Given the description of an element on the screen output the (x, y) to click on. 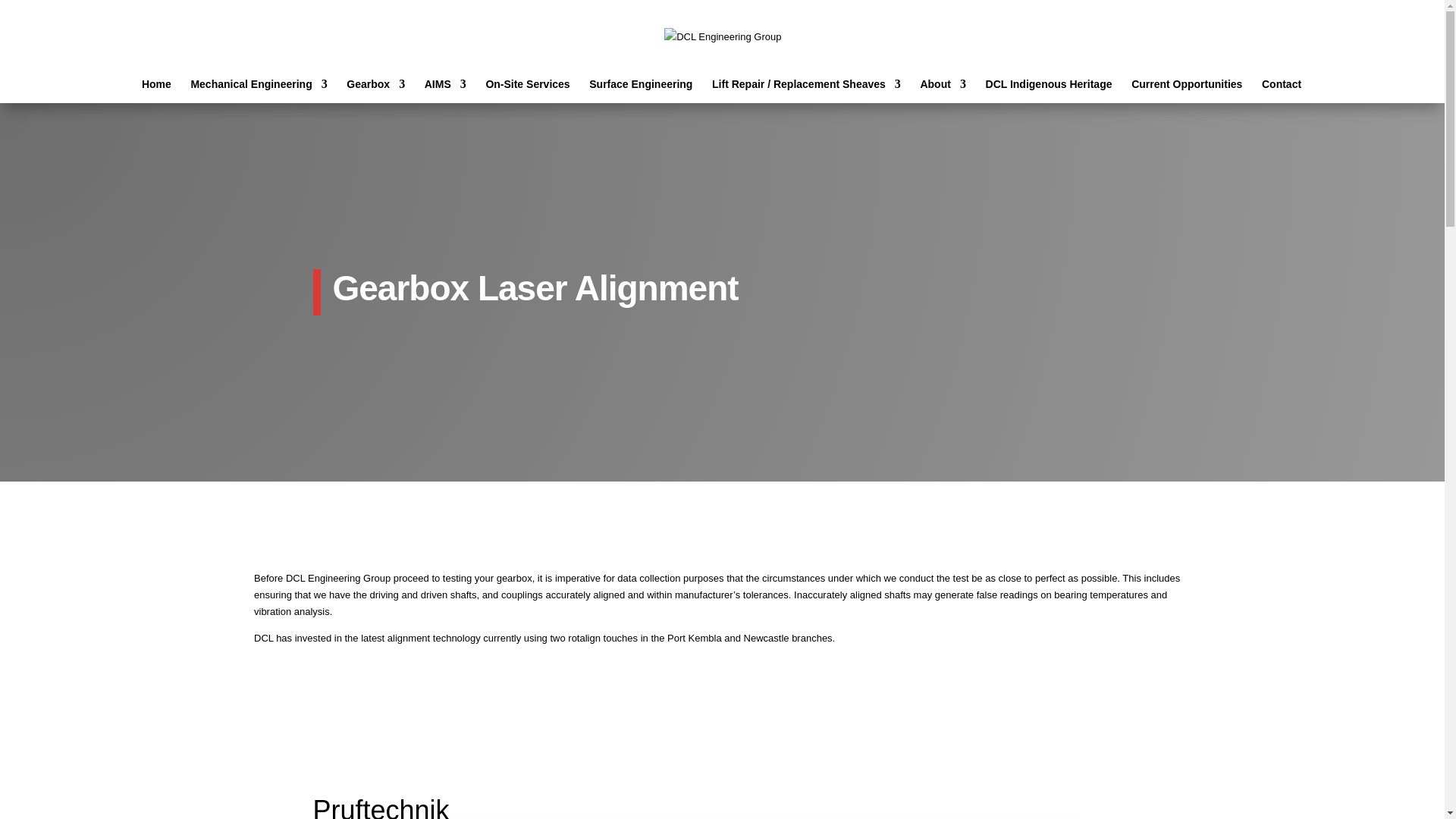
Gearbox Element type: text (375, 90)
Surface Engineering Element type: text (640, 90)
AIMS Element type: text (445, 90)
On-Site Services Element type: text (527, 90)
Contact Element type: text (1281, 90)
Mechanical Engineering Element type: text (258, 90)
Home Element type: text (156, 90)
Current Opportunities Element type: text (1186, 90)
Lift Repair / Replacement Sheaves Element type: text (806, 90)
DCL Indigenous Heritage Element type: text (1048, 90)
About Element type: text (942, 90)
